Given the description of an element on the screen output the (x, y) to click on. 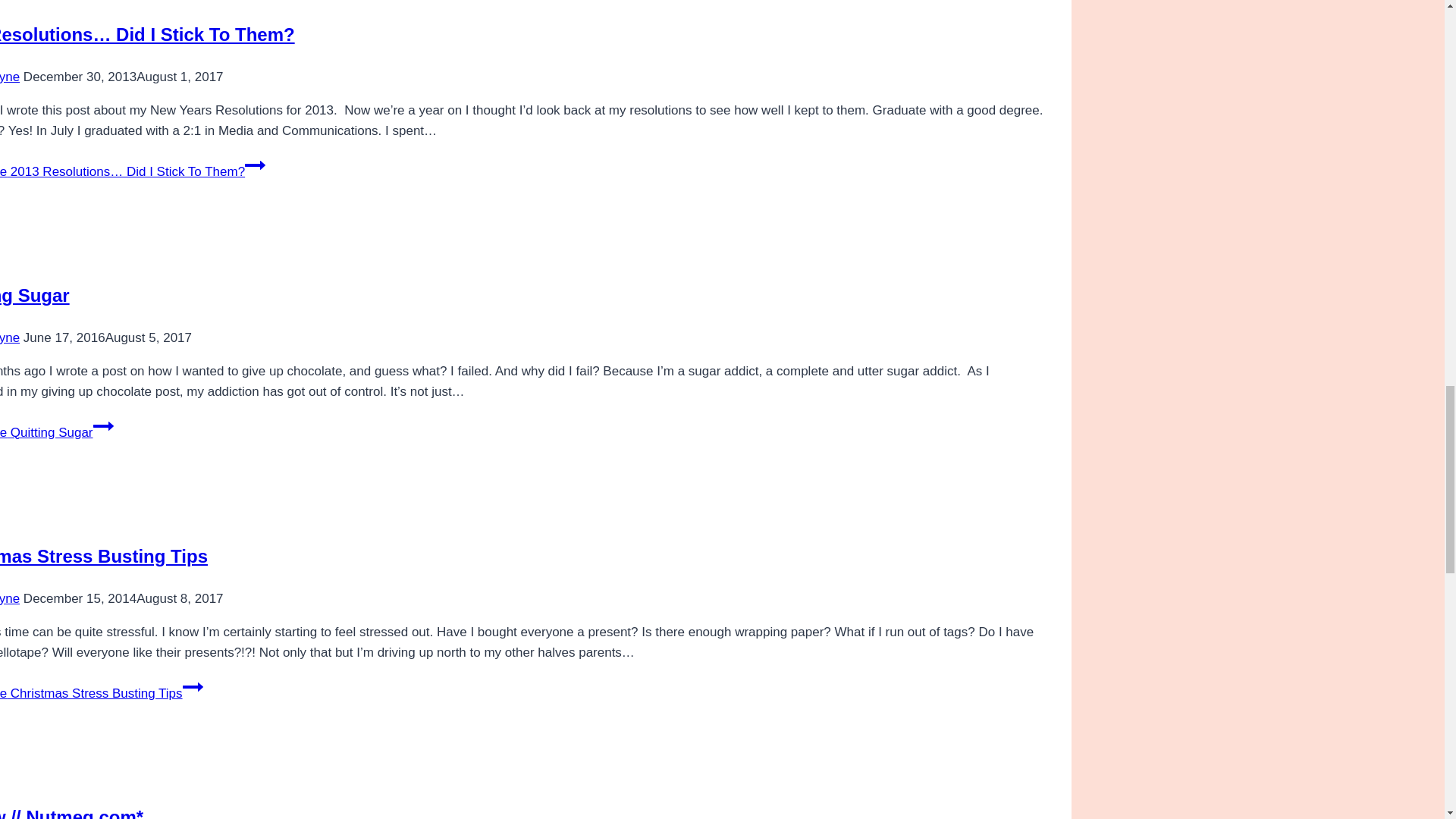
Read More Quitting Sugar (56, 432)
Lisa Jayne (10, 598)
Christmas Stress Busting Tips (104, 556)
Lisa Jayne (10, 337)
Read More Christmas Stress Busting Tips (101, 693)
Quitting Sugar (34, 295)
Lisa Jayne (10, 76)
